Given the description of an element on the screen output the (x, y) to click on. 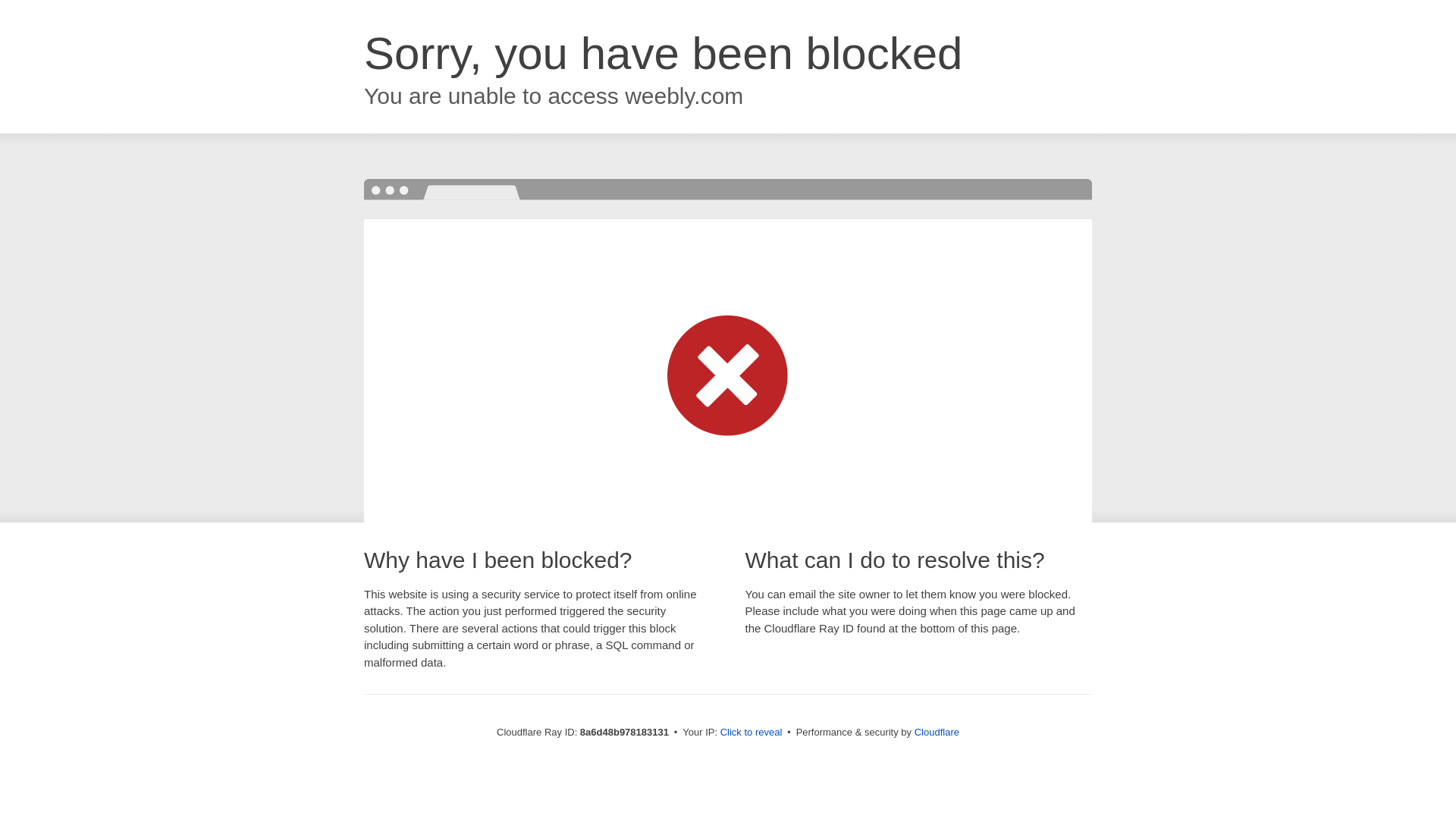
Click to reveal (751, 732)
Cloudflare (936, 731)
